Given the description of an element on the screen output the (x, y) to click on. 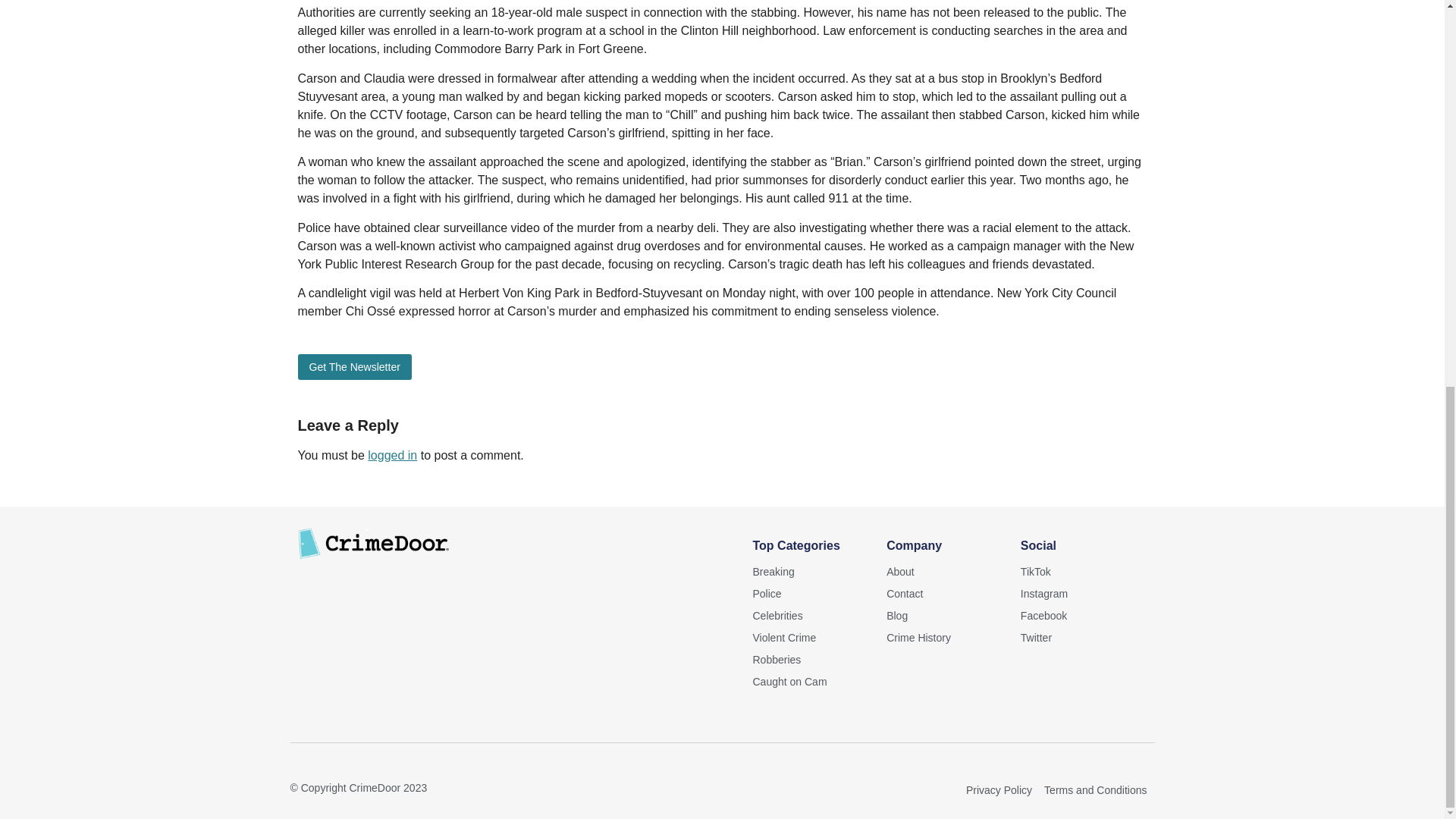
Get The Newsletter (353, 366)
logged in (392, 454)
